Given the description of an element on the screen output the (x, y) to click on. 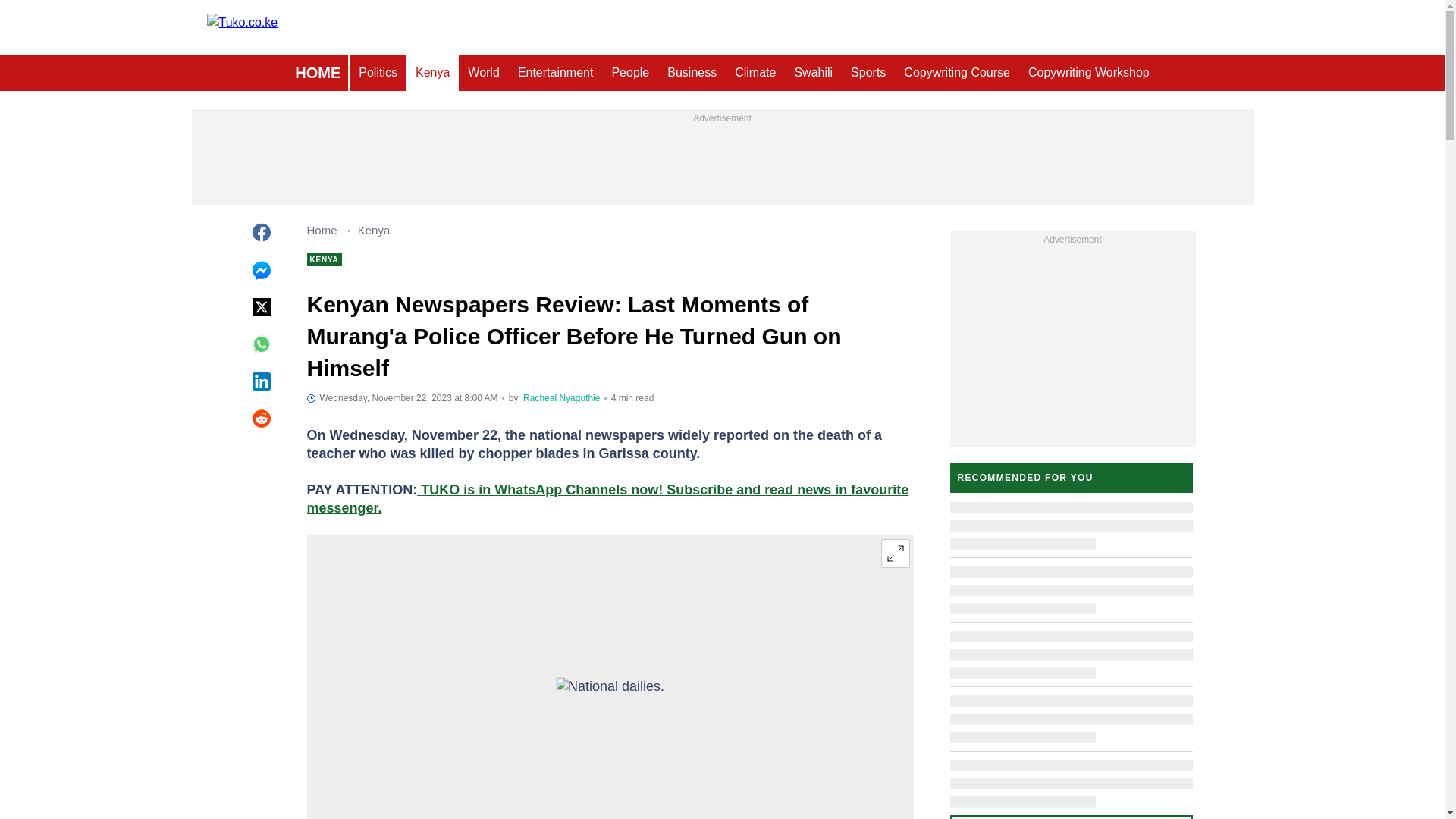
People (630, 72)
Copywriting Course (957, 72)
HOME (317, 72)
World (483, 72)
Sports (868, 72)
Politics (377, 72)
Copywriting Workshop (1088, 72)
Climate (754, 72)
Author page (560, 398)
National dailies. (609, 705)
